Given the description of an element on the screen output the (x, y) to click on. 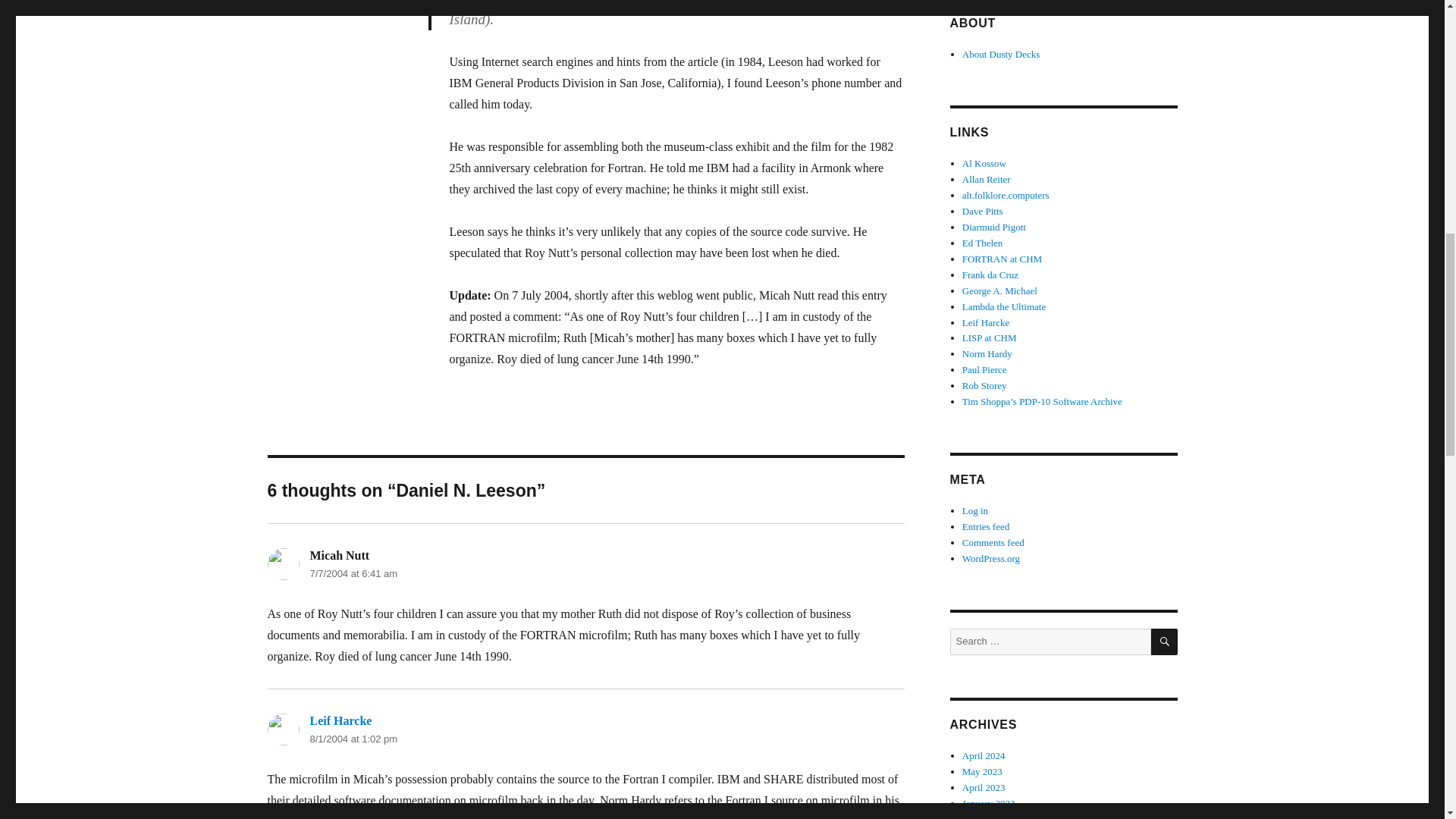
About Dusty Decks (1001, 53)
Fortran at Livermore (347, 816)
alt.folklore.computers (1005, 194)
Ed Thelen (982, 242)
Leif Harcke (339, 720)
Allan Reiter (986, 179)
Al Kossow (984, 163)
Online Historical Encyclopaedia of Programming Languages (994, 226)
